Given the description of an element on the screen output the (x, y) to click on. 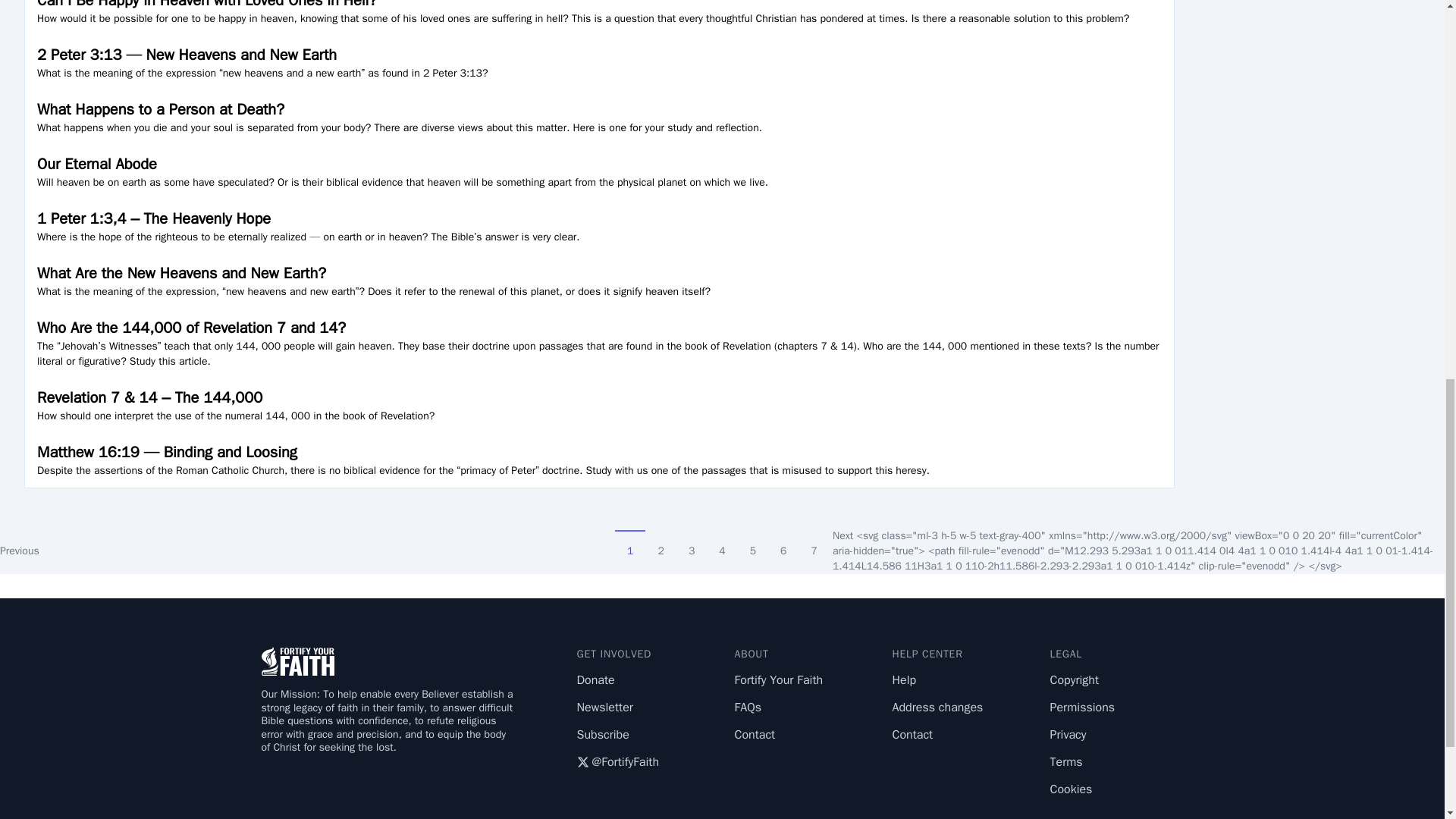
2 (660, 543)
3 (691, 543)
4 (721, 543)
